Given the description of an element on the screen output the (x, y) to click on. 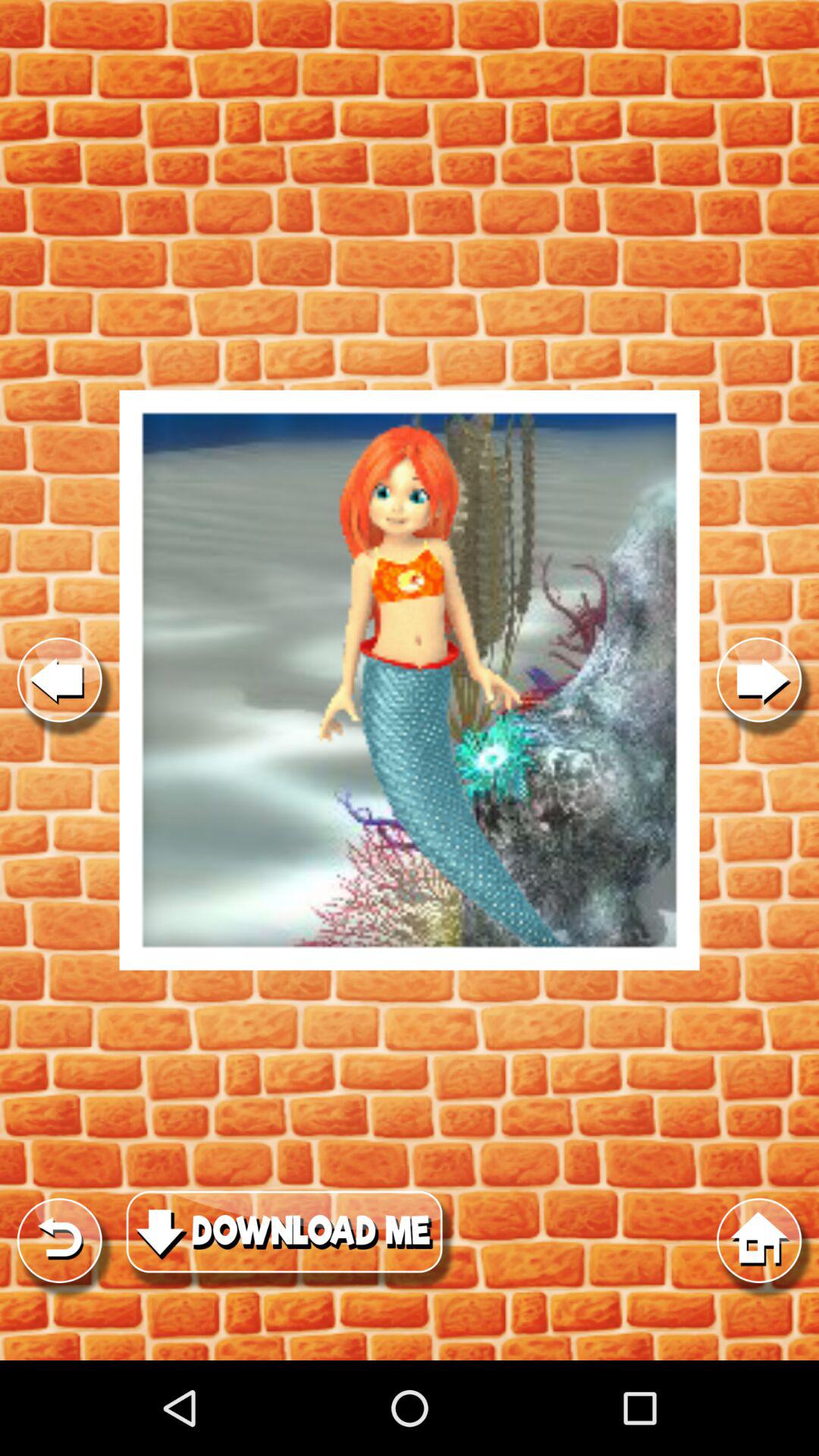
download content (291, 1240)
